Given the description of an element on the screen output the (x, y) to click on. 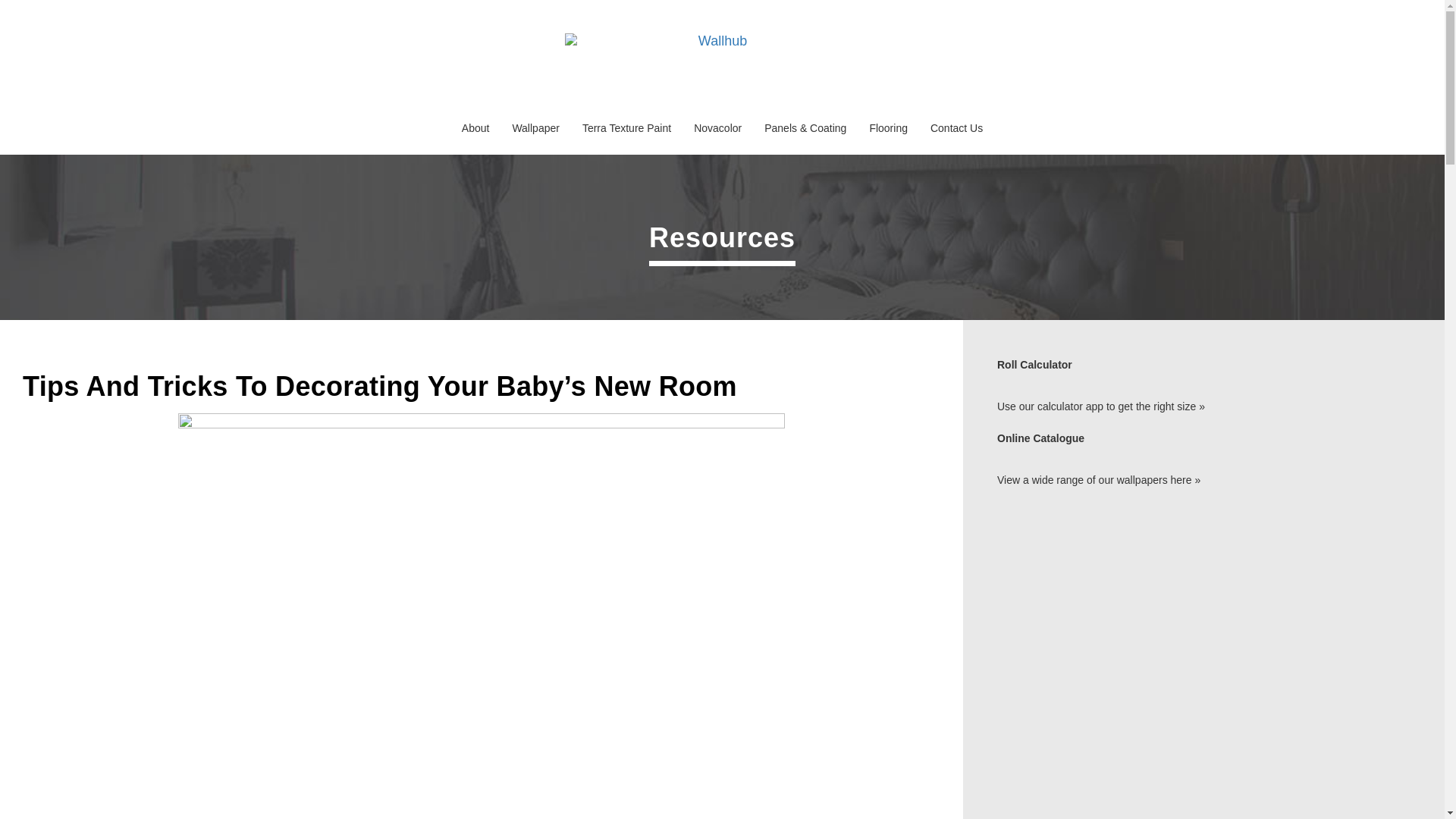
Flooring (887, 127)
Terra Texture Paint (626, 127)
About (474, 127)
Contact Us (956, 127)
Novacolor (717, 127)
Wallpaper (535, 127)
